Given the description of an element on the screen output the (x, y) to click on. 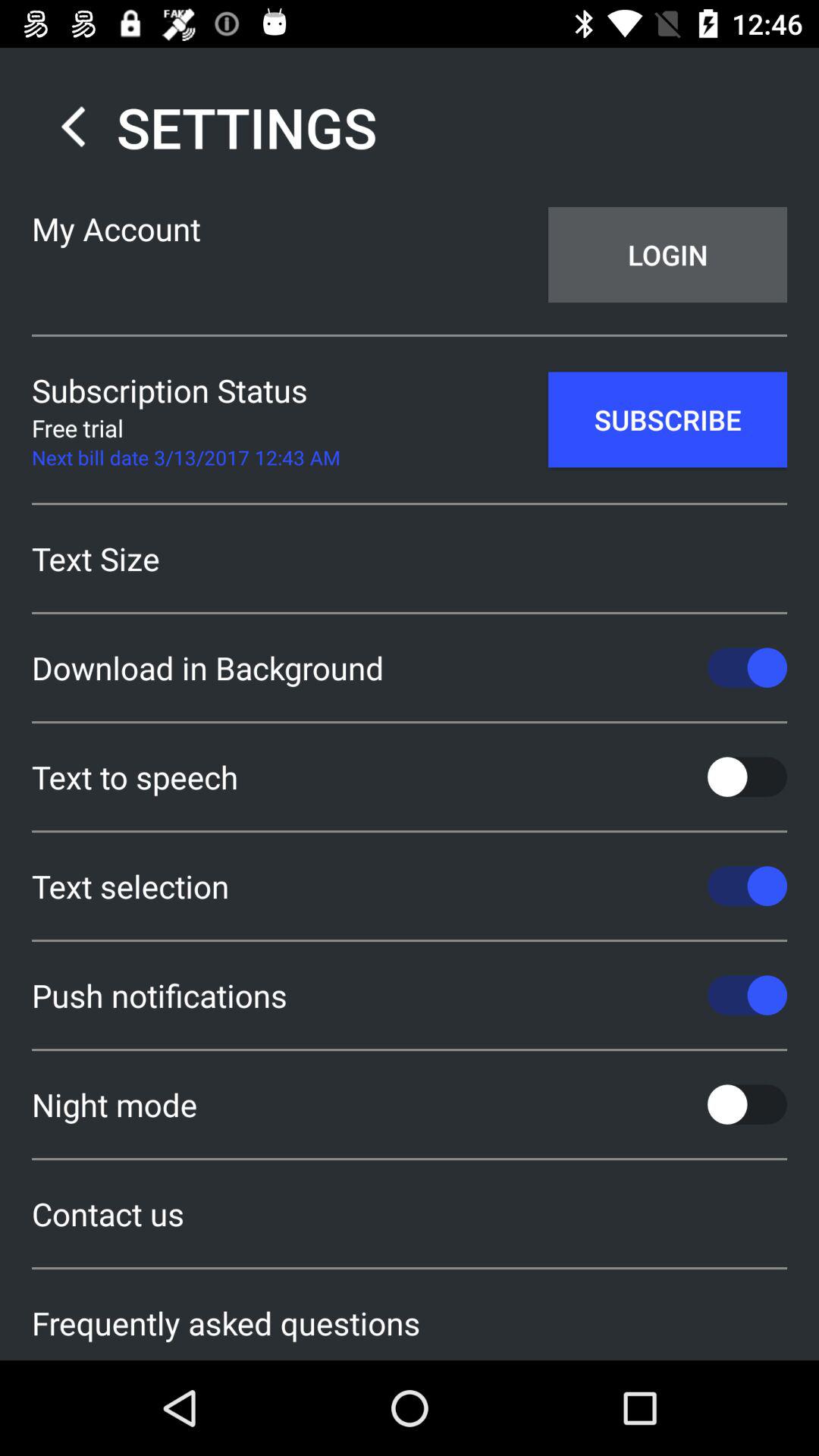
press push notifications item (409, 994)
